Given the description of an element on the screen output the (x, y) to click on. 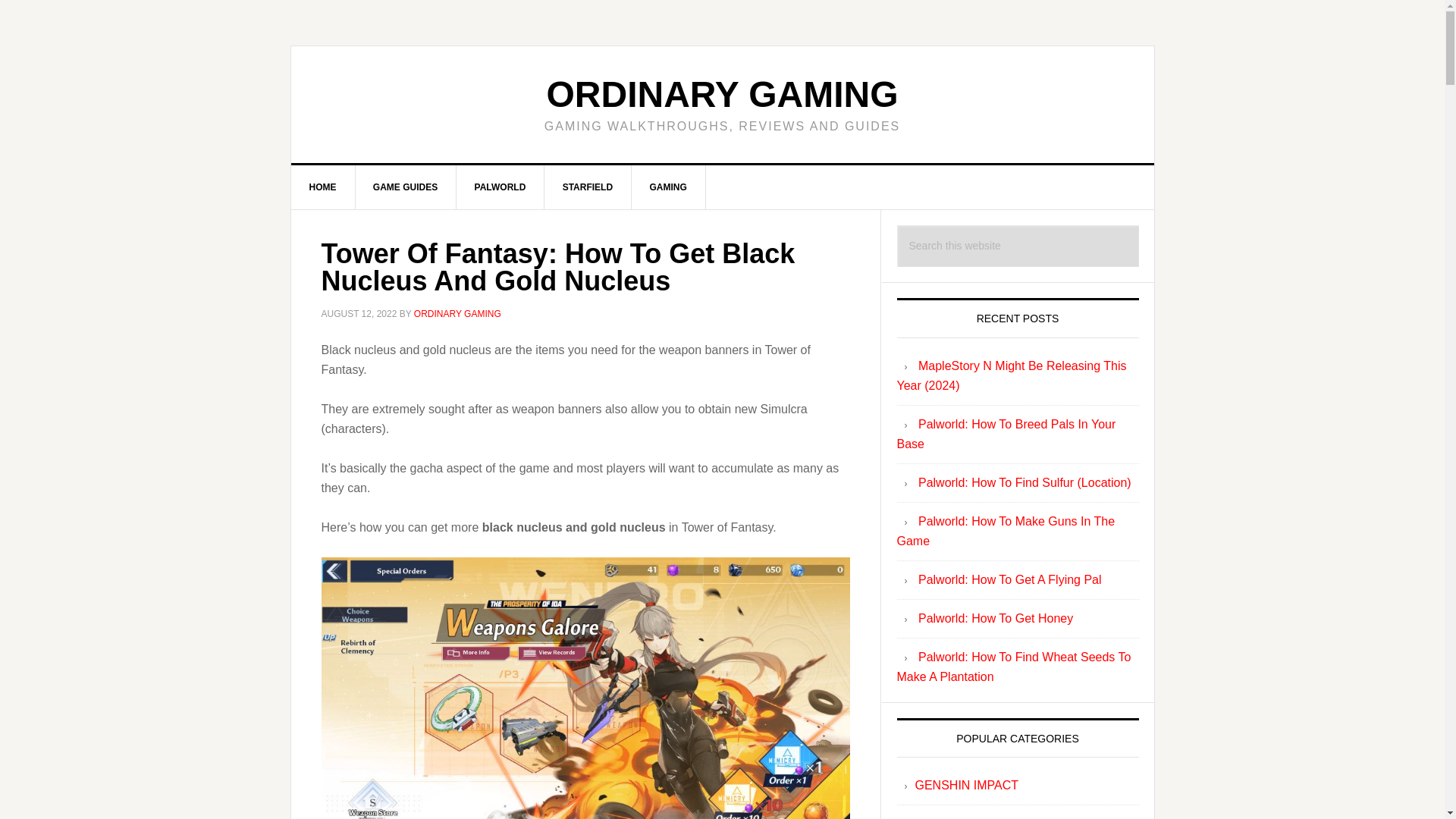
ORDINARY GAMING (456, 313)
GAMING (667, 187)
Palworld: How To Get A Flying Pal (1010, 579)
Palworld: How To Make Guns In The Game (1005, 531)
ORDINARY GAMING (722, 94)
CYBERPUNK 2077 (967, 818)
Palworld: How To Breed Pals In Your Base (1005, 433)
PALWORLD (500, 187)
GAME GUIDES (406, 187)
